Given the description of an element on the screen output the (x, y) to click on. 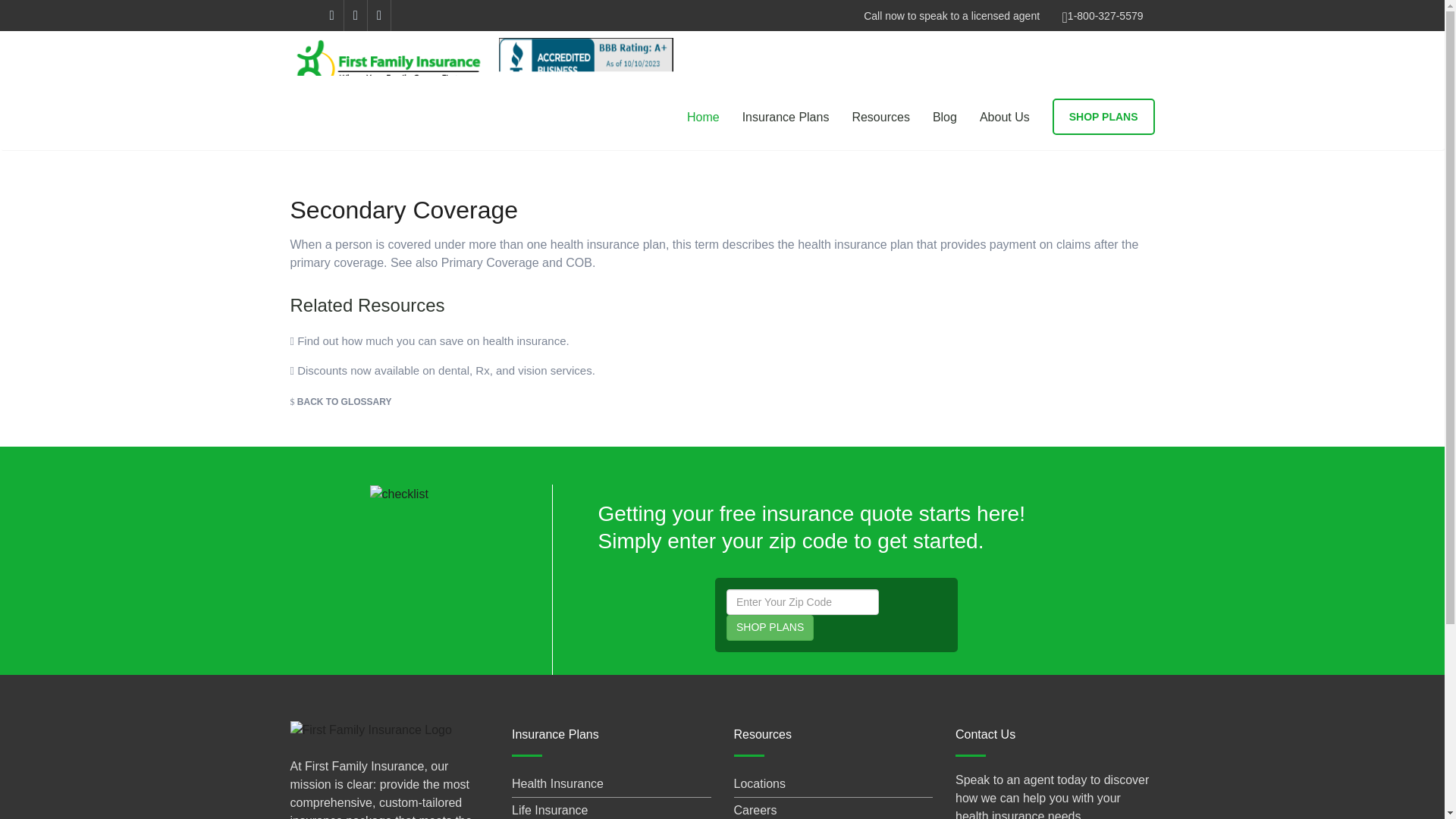
Discounts now available on dental, Rx, and vision services. (441, 369)
Locations (759, 783)
1-800-327-5579 (1104, 15)
Resources (880, 117)
Enter Your Zip Code (802, 601)
About Us (1004, 117)
Health Insurance (558, 783)
SHOP PLANS (769, 627)
Facebook (331, 15)
Instagram (355, 15)
